Given the description of an element on the screen output the (x, y) to click on. 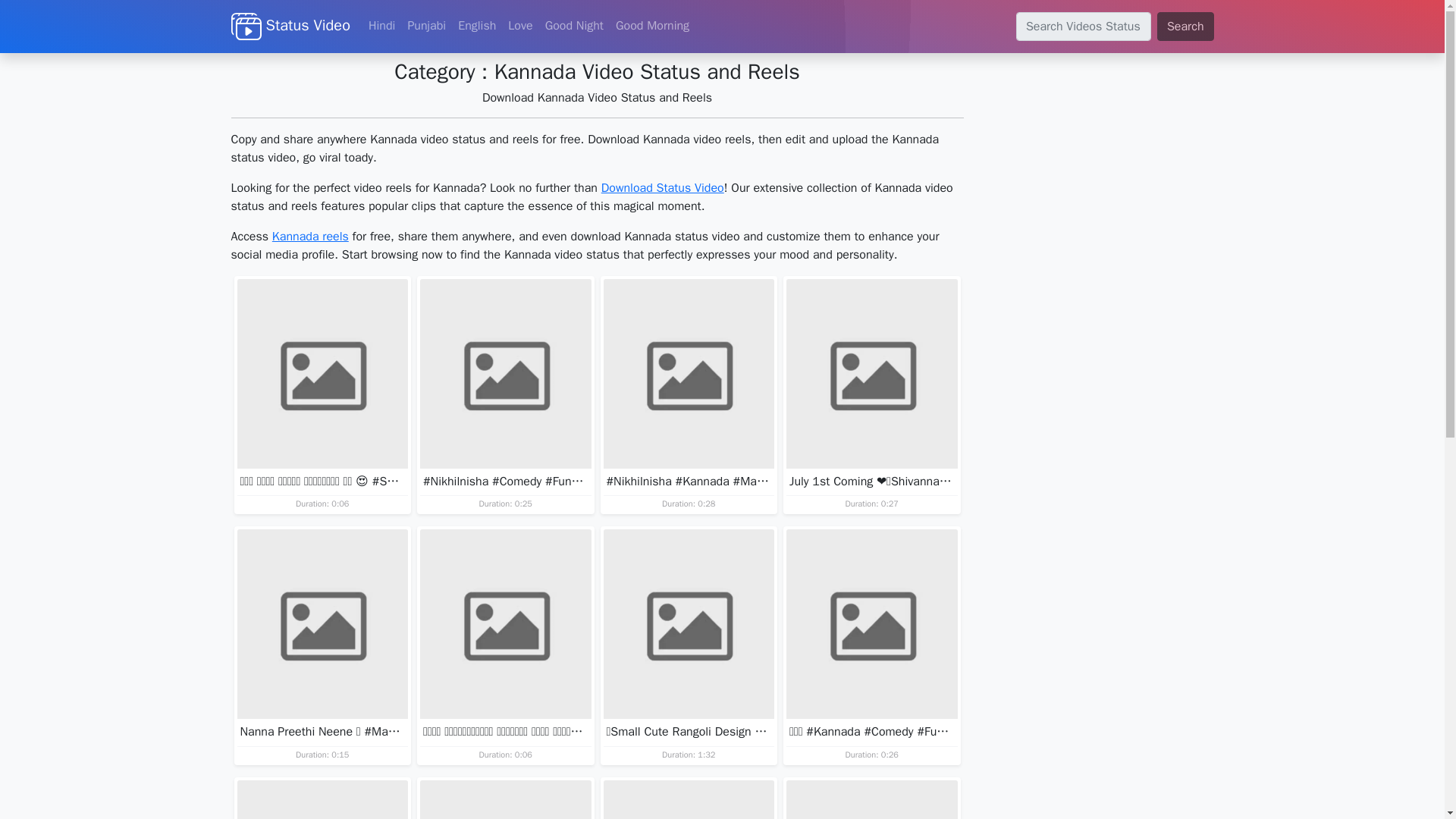
Download Status Video (662, 187)
English (476, 26)
Punjabi (426, 26)
Hindi (381, 26)
Kannada Video Status And Reels Download (245, 26)
Good Morning (652, 26)
Kannada Video Status And Reels Download Status Video (289, 26)
Good Night (574, 26)
Kannada reels (310, 236)
Love (520, 26)
Search (1185, 26)
